Given the description of an element on the screen output the (x, y) to click on. 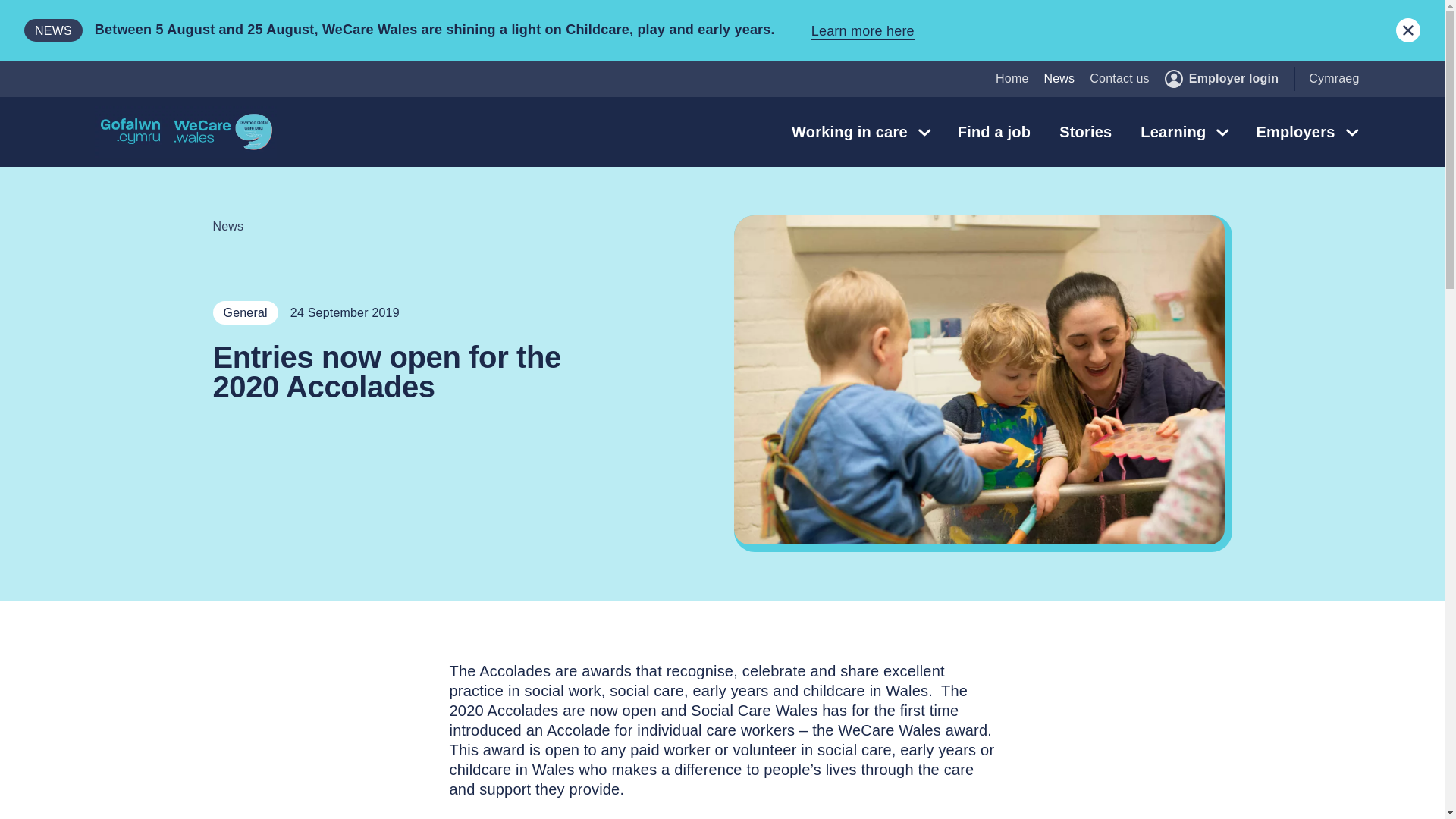
News (1059, 78)
Stories (1085, 131)
Home (1011, 78)
Find a job (993, 131)
Stories (1085, 131)
Working in care (859, 132)
Learning (1183, 132)
News (1059, 78)
Contact us (1118, 78)
Learning (1183, 132)
